Given the description of an element on the screen output the (x, y) to click on. 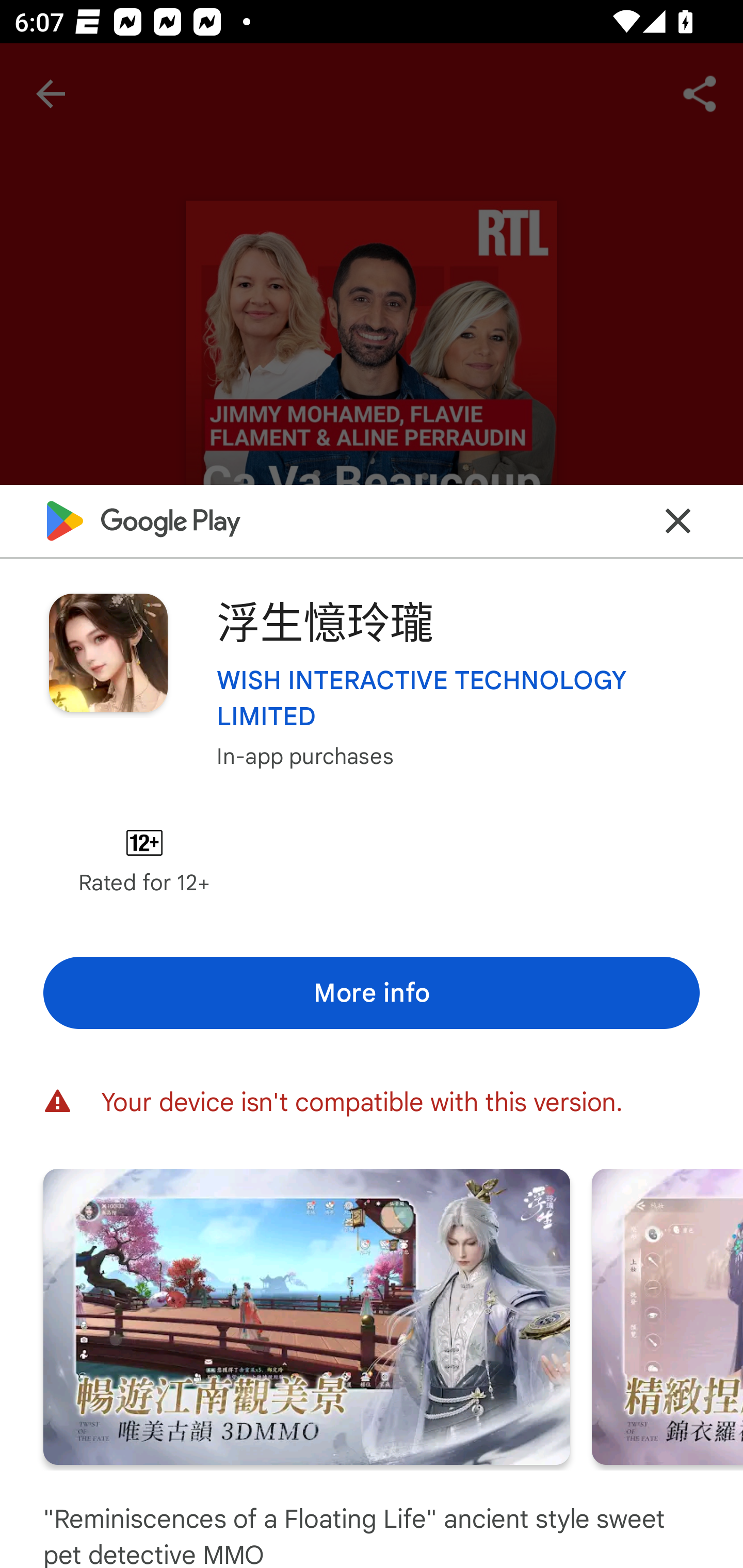
Close (677, 520)
Image of app or game icon for 浮生憶玲瓏 (108, 653)
WISH INTERACTIVE TECHNOLOGY LIMITED (457, 697)
More info (371, 992)
Screenshot "1" of "6" (306, 1316)
